Given the description of an element on the screen output the (x, y) to click on. 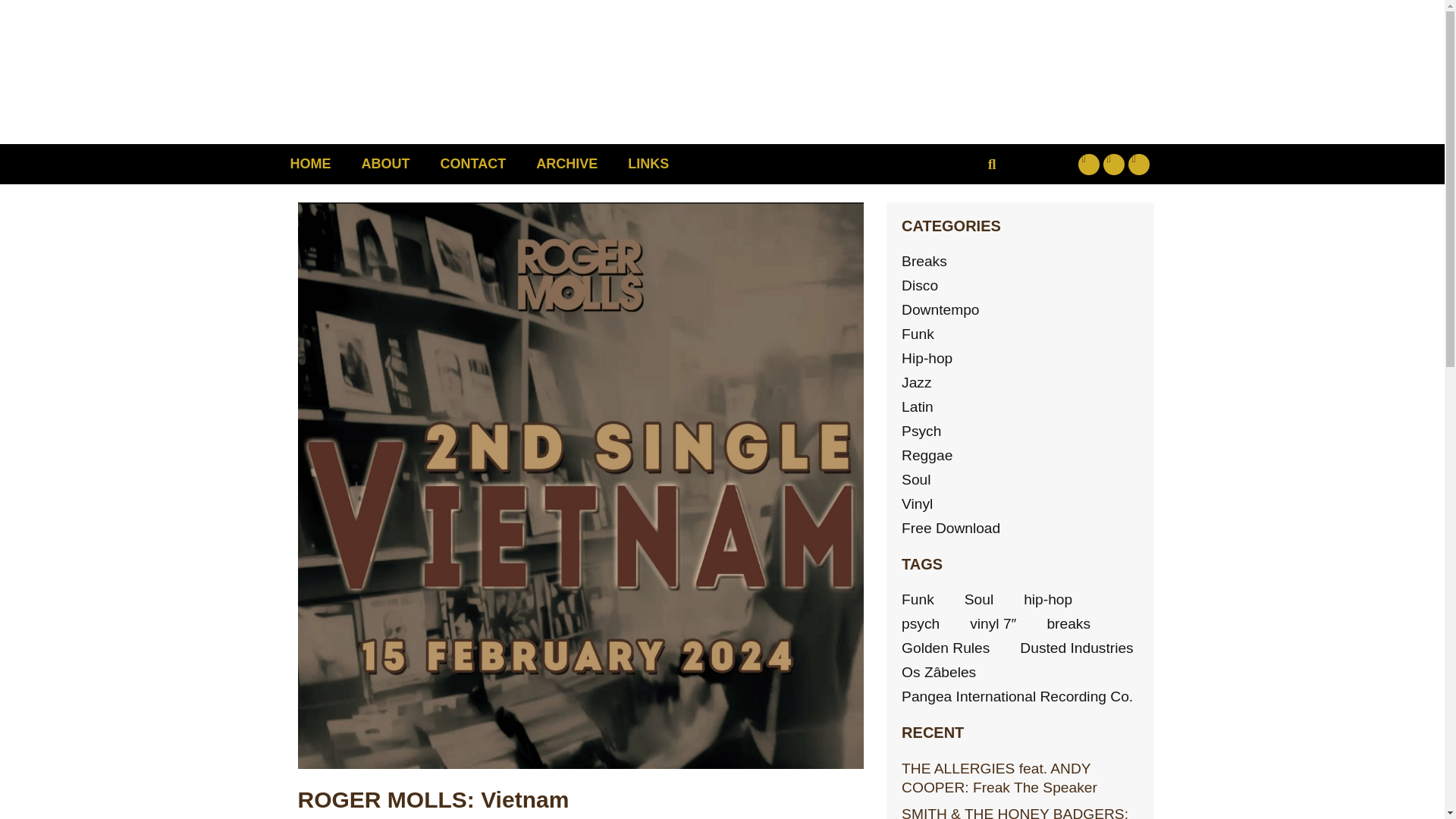
ARCHIVE (566, 164)
LINKS (648, 164)
ABOUT (385, 164)
HOME (310, 164)
CONTACT (473, 164)
